Given the description of an element on the screen output the (x, y) to click on. 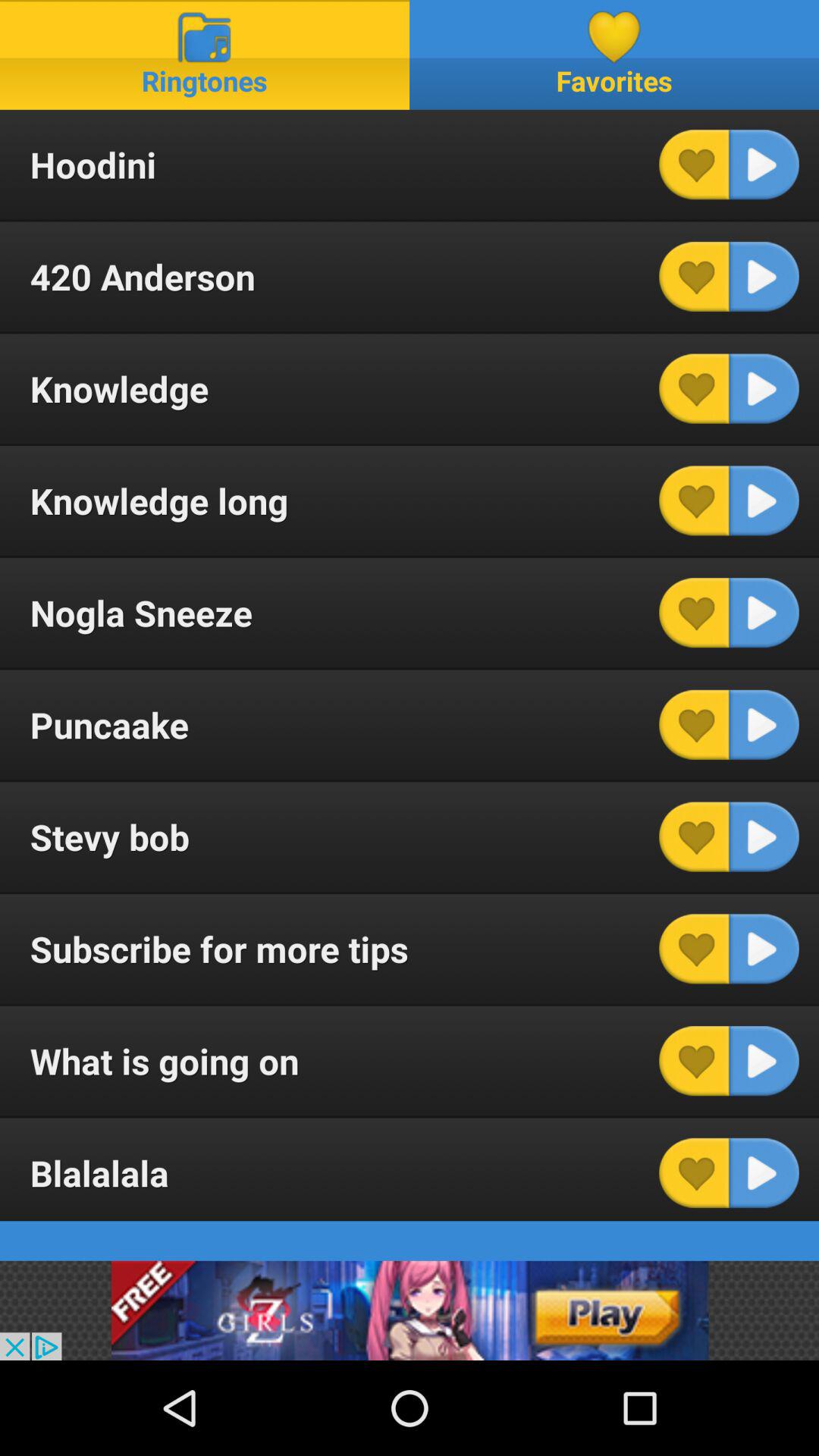
click to play (764, 388)
